Given the description of an element on the screen output the (x, y) to click on. 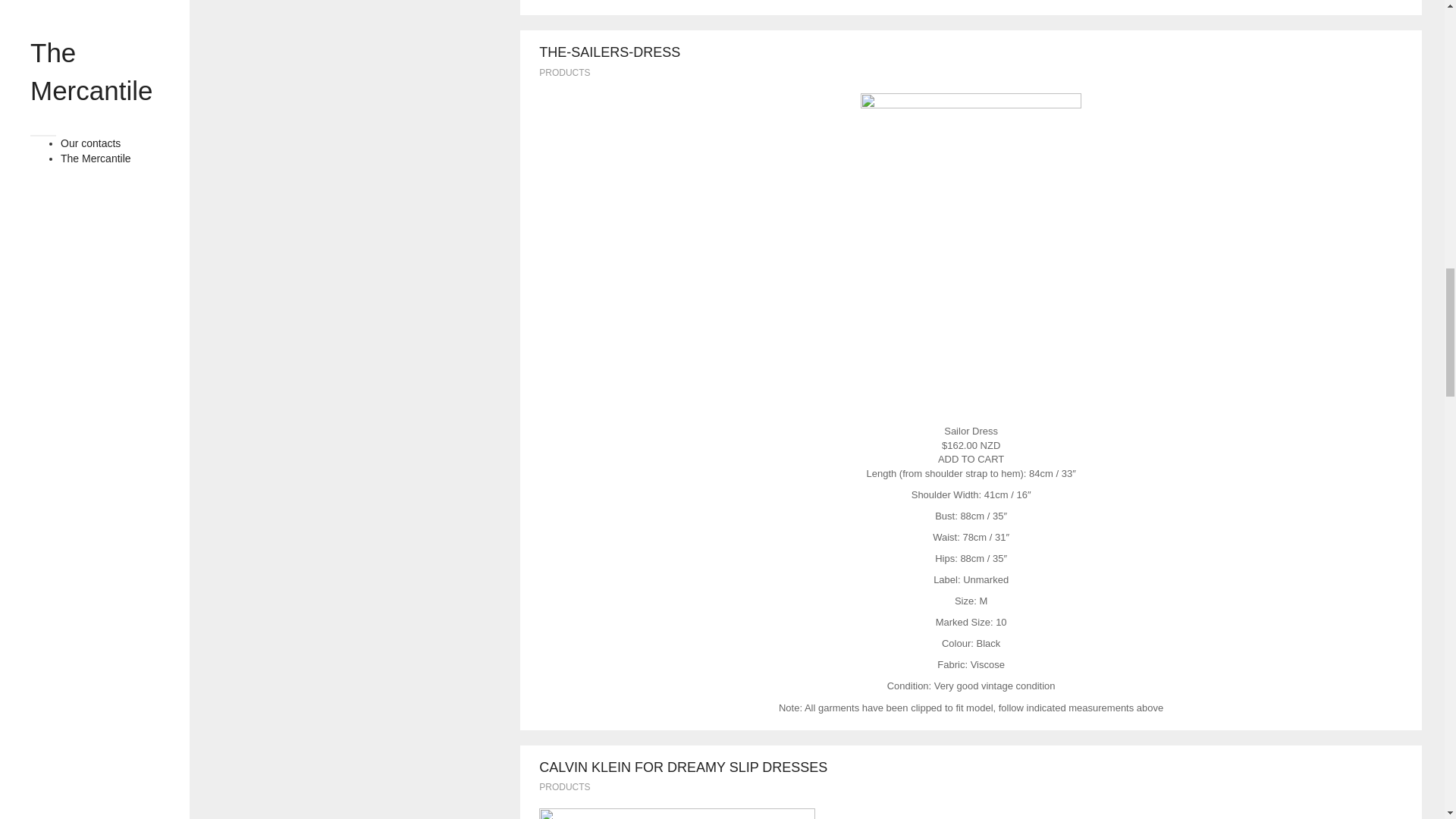
CALVIN KLEIN FOR DREAMY SLIP DRESSES (682, 767)
PRODUCTS (563, 787)
THE-SAILERS-DRESS (608, 52)
PRODUCTS (563, 72)
